Given the description of an element on the screen output the (x, y) to click on. 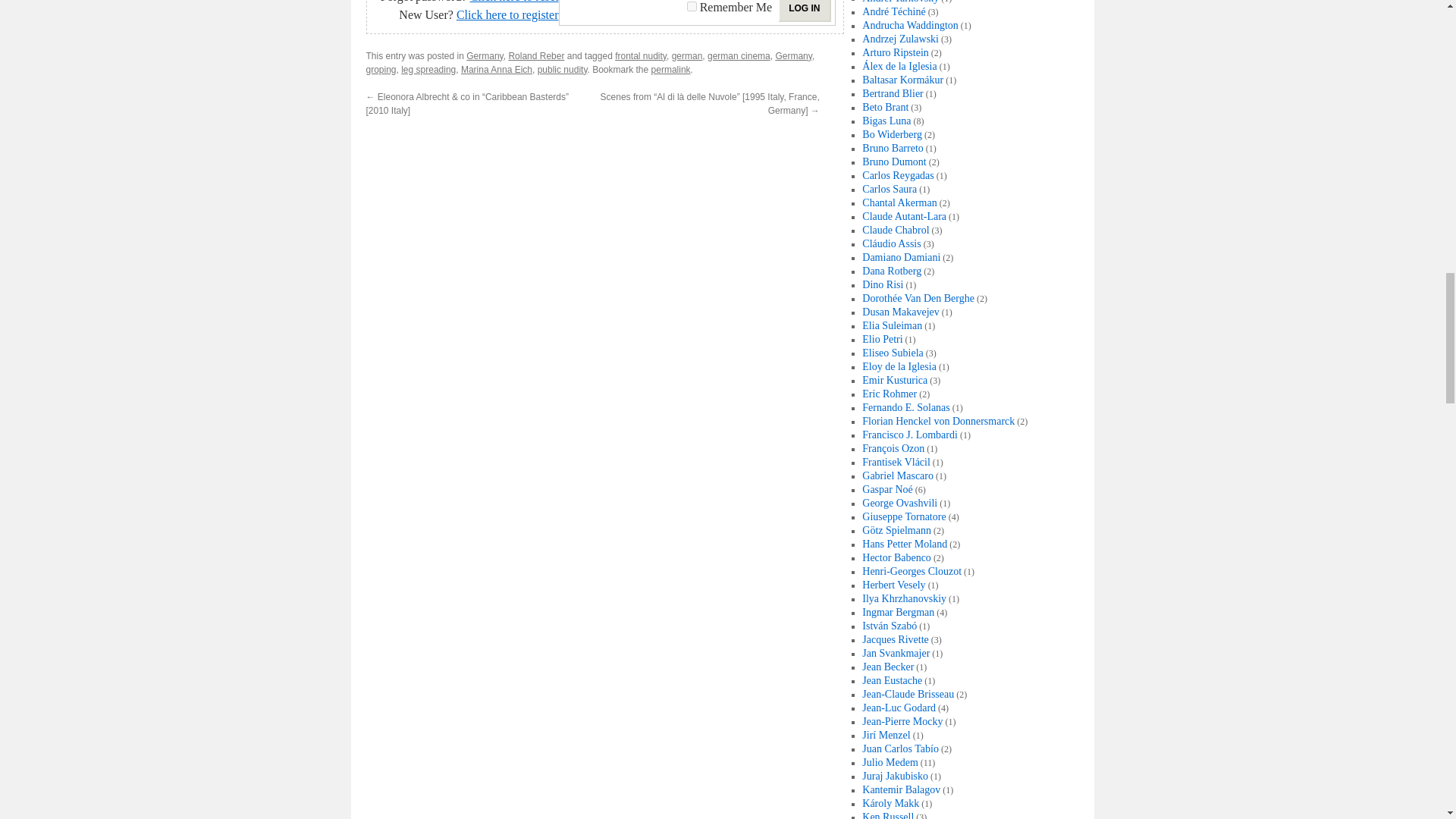
Germany (483, 55)
Log In (803, 11)
Log In (803, 11)
Click here to reset (514, 1)
Roland Reber (536, 55)
frontal nudity (640, 55)
german cinema (738, 55)
forever (692, 6)
german (687, 55)
Germany (792, 55)
Click here to register (508, 14)
